Given the description of an element on the screen output the (x, y) to click on. 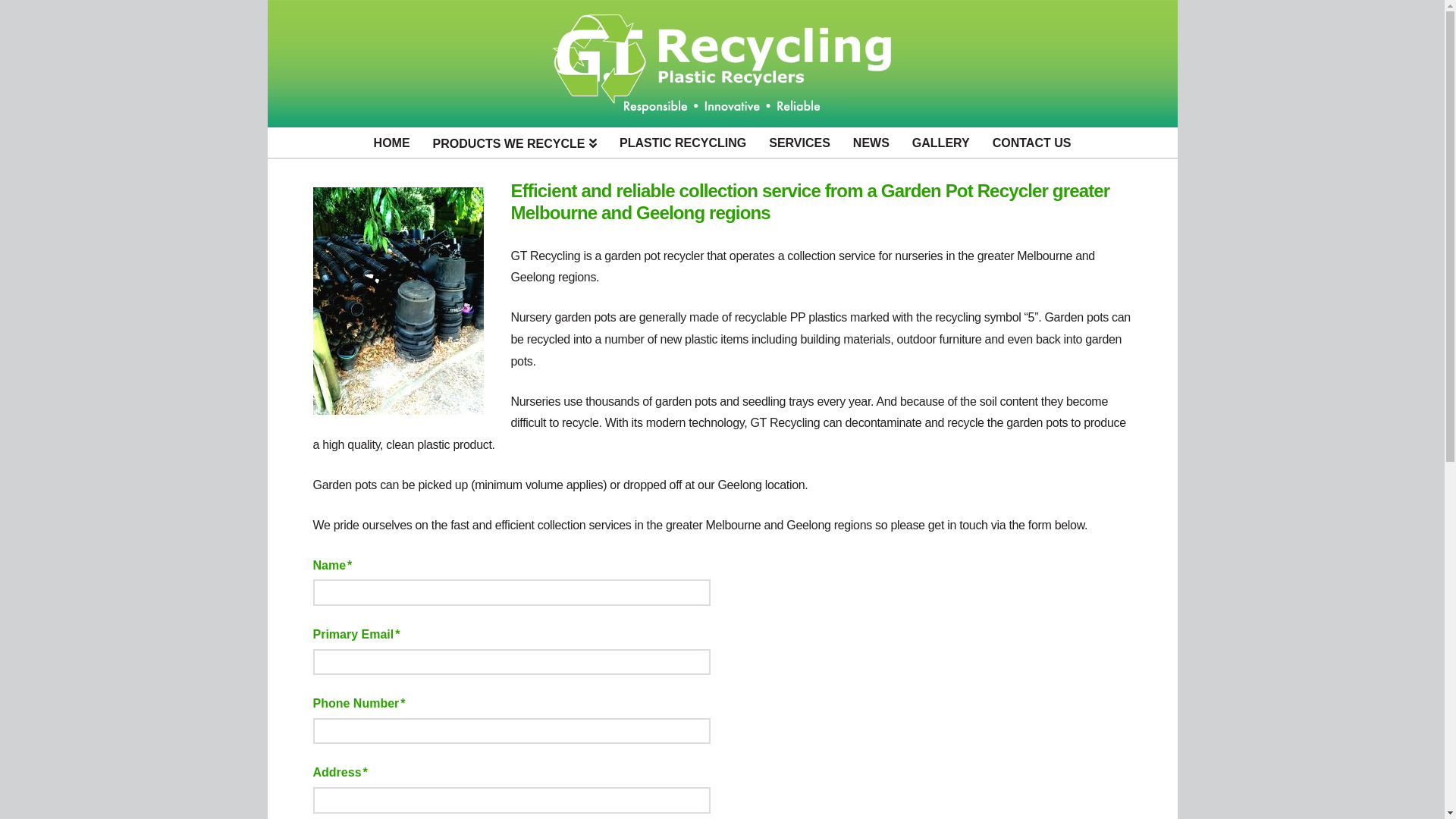
PLASTIC RECYCLING Element type: text (682, 142)
GALLERY Element type: text (940, 142)
HOME Element type: text (391, 142)
NEWS Element type: text (870, 142)
CONTACT US Element type: text (1031, 142)
PRODUCTS WE RECYCLE Element type: text (514, 142)
SERVICES Element type: text (799, 142)
